Given the description of an element on the screen output the (x, y) to click on. 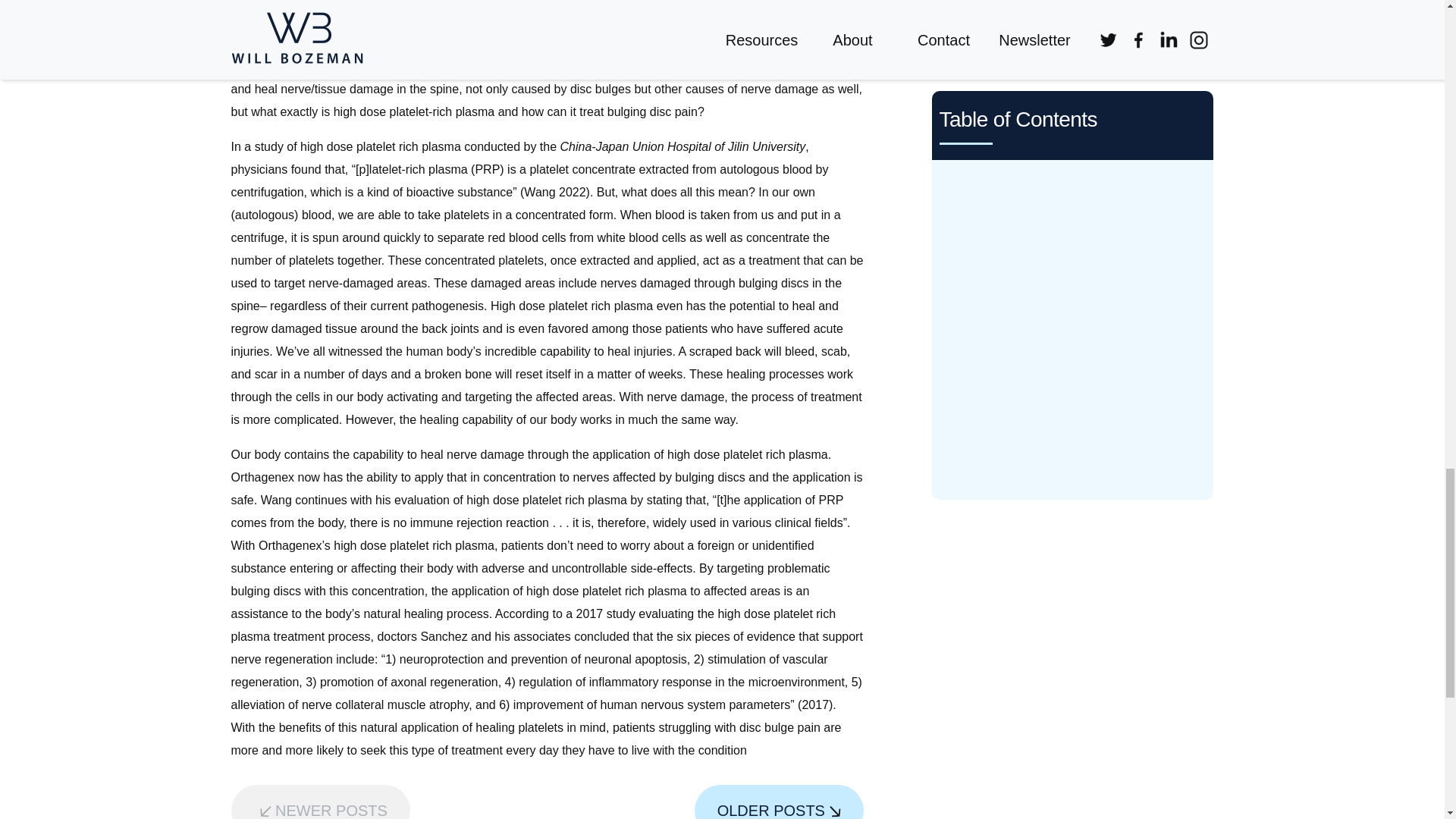
NEWER POSTS (319, 801)
OLDER POSTS (778, 801)
